Given the description of an element on the screen output the (x, y) to click on. 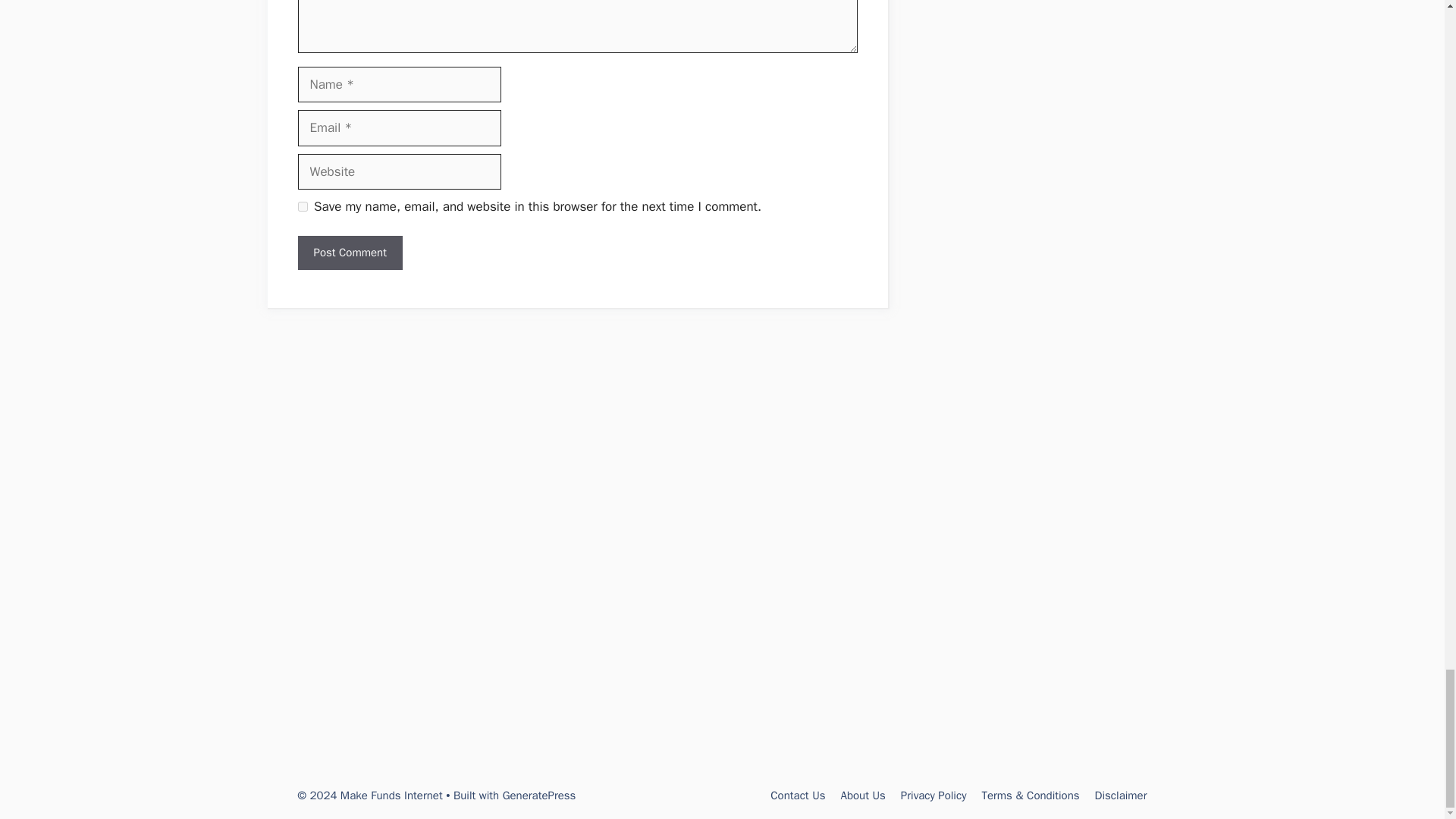
About Us (863, 795)
Disclaimer (1120, 795)
Contact Us (797, 795)
Post Comment (349, 252)
Privacy Policy (933, 795)
GeneratePress (539, 795)
yes (302, 206)
Post Comment (349, 252)
